Given the description of an element on the screen output the (x, y) to click on. 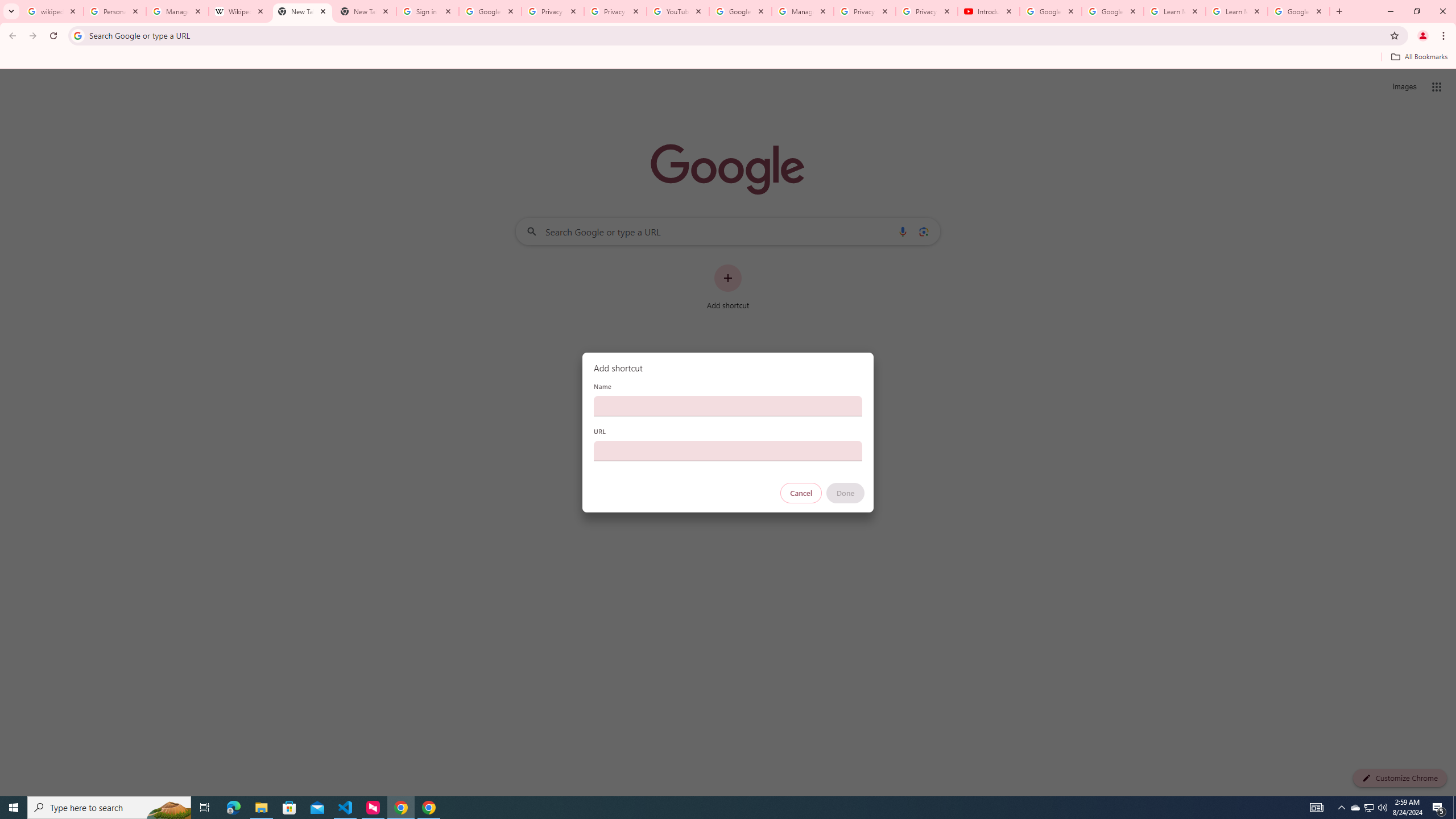
Done (845, 493)
Sign in - Google Accounts (427, 11)
Personalization & Google Search results - Google Search Help (114, 11)
Manage your Location History - Google Search Help (177, 11)
URL (727, 450)
